Given the description of an element on the screen output the (x, y) to click on. 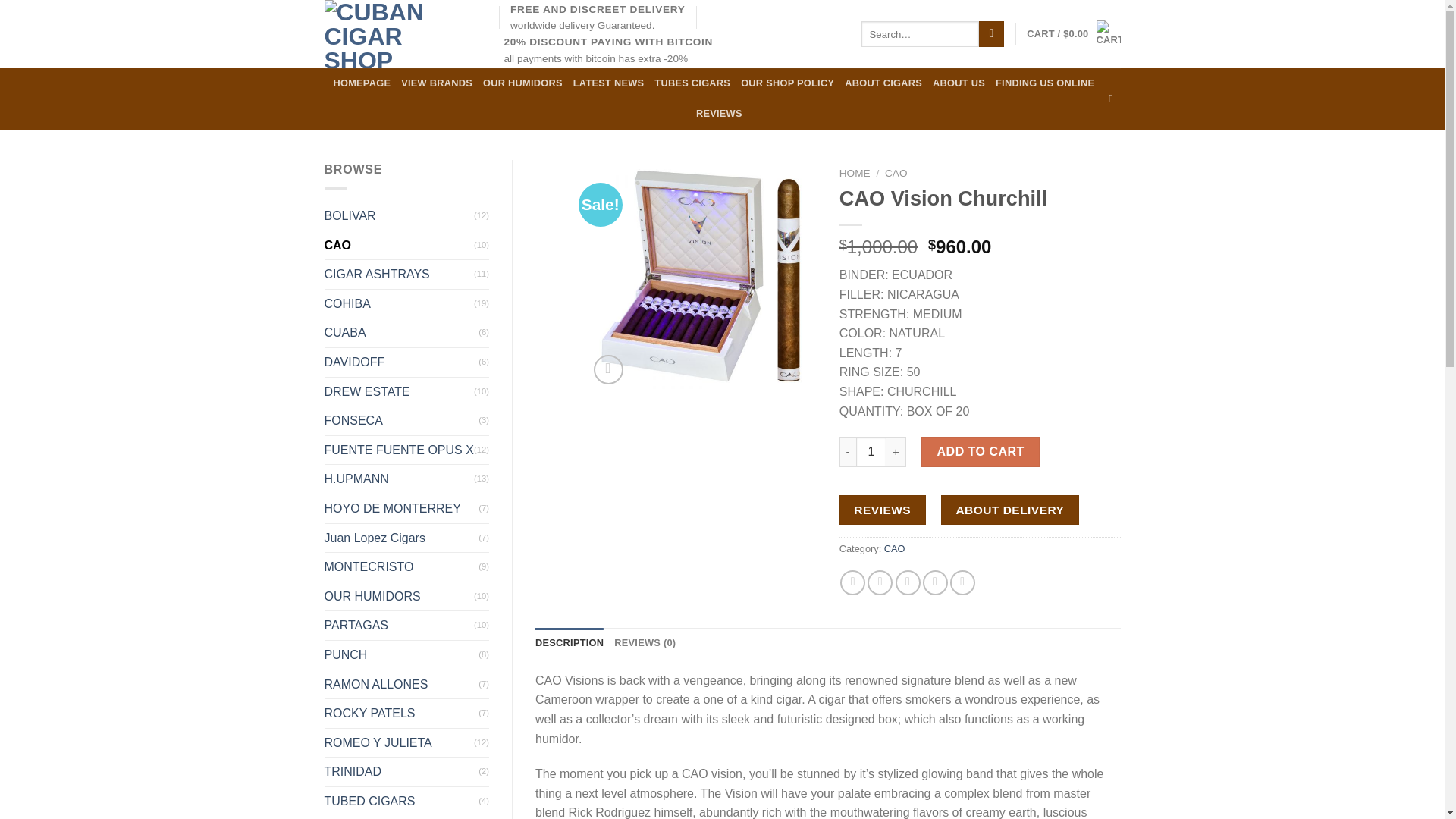
Share on Facebook (852, 582)
VIEW BRANDS (436, 82)
Cart (1072, 34)
CAO (399, 245)
CUABA (401, 332)
Qty (871, 451)
FINDING US ONLINE (1044, 82)
Zoom (608, 369)
Search (991, 33)
HOMEPAGE (361, 82)
OUR HUMIDORS (522, 82)
OUR SHOP POLICY (787, 82)
BOLIVAR (399, 215)
OUR HUMIDORS (399, 596)
FONSECA (401, 420)
